Given the description of an element on the screen output the (x, y) to click on. 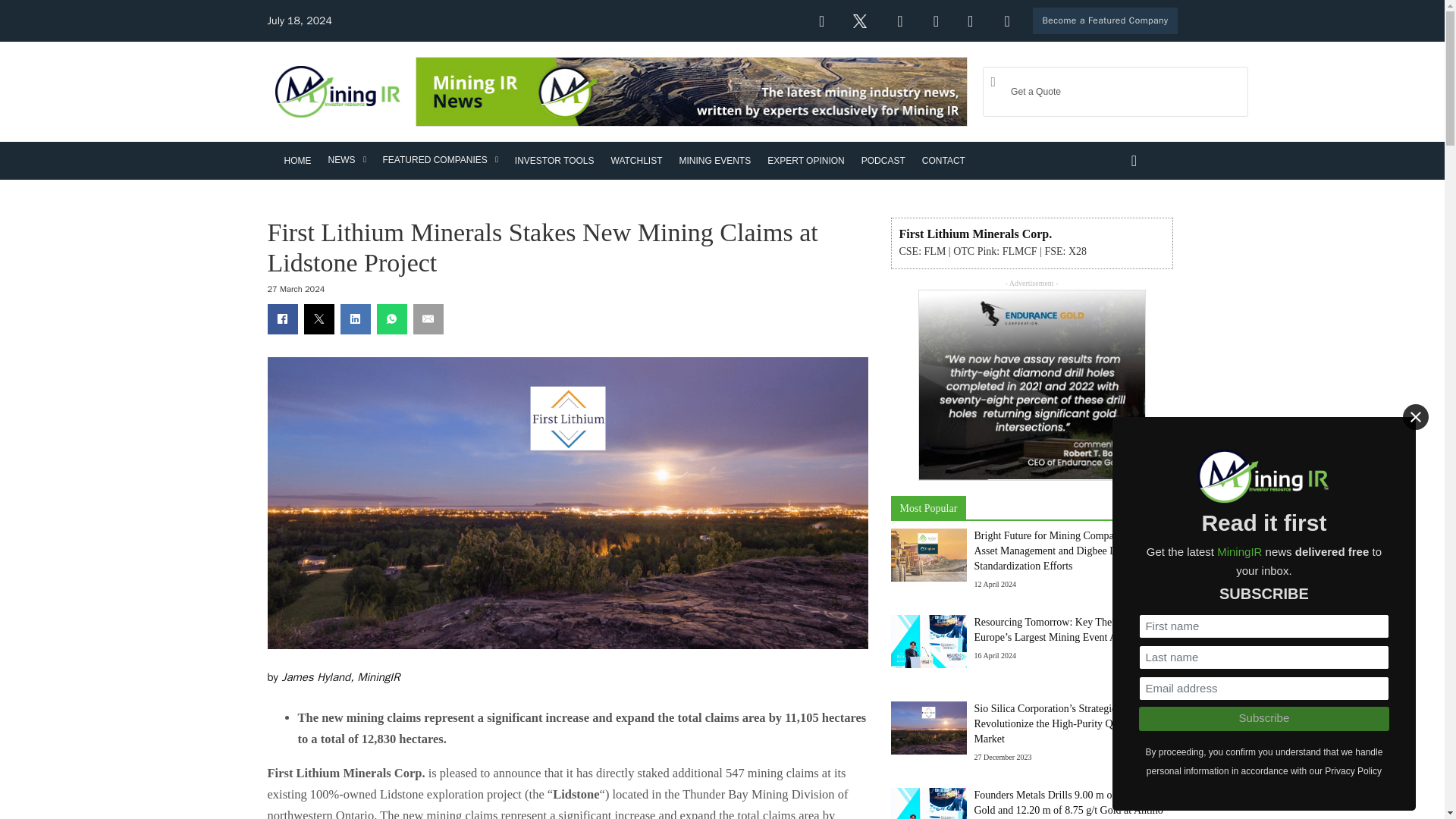
Subscribe (1263, 718)
NEWS (341, 158)
Become a Featured Company (1104, 20)
